Given the description of an element on the screen output the (x, y) to click on. 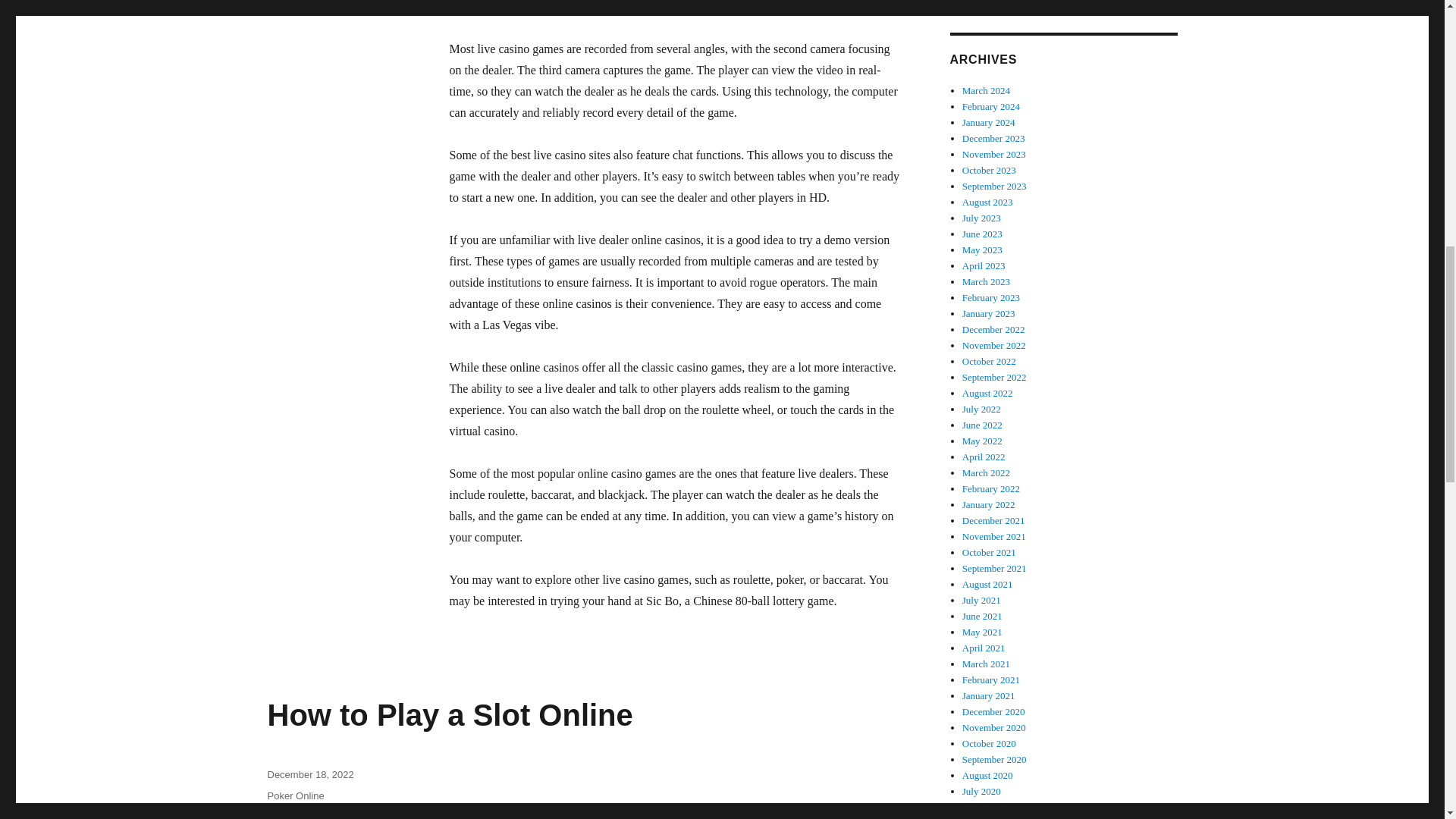
December 18, 2022 (309, 774)
How to Play a Slot Online (448, 715)
Poker Online (294, 795)
